Given the description of an element on the screen output the (x, y) to click on. 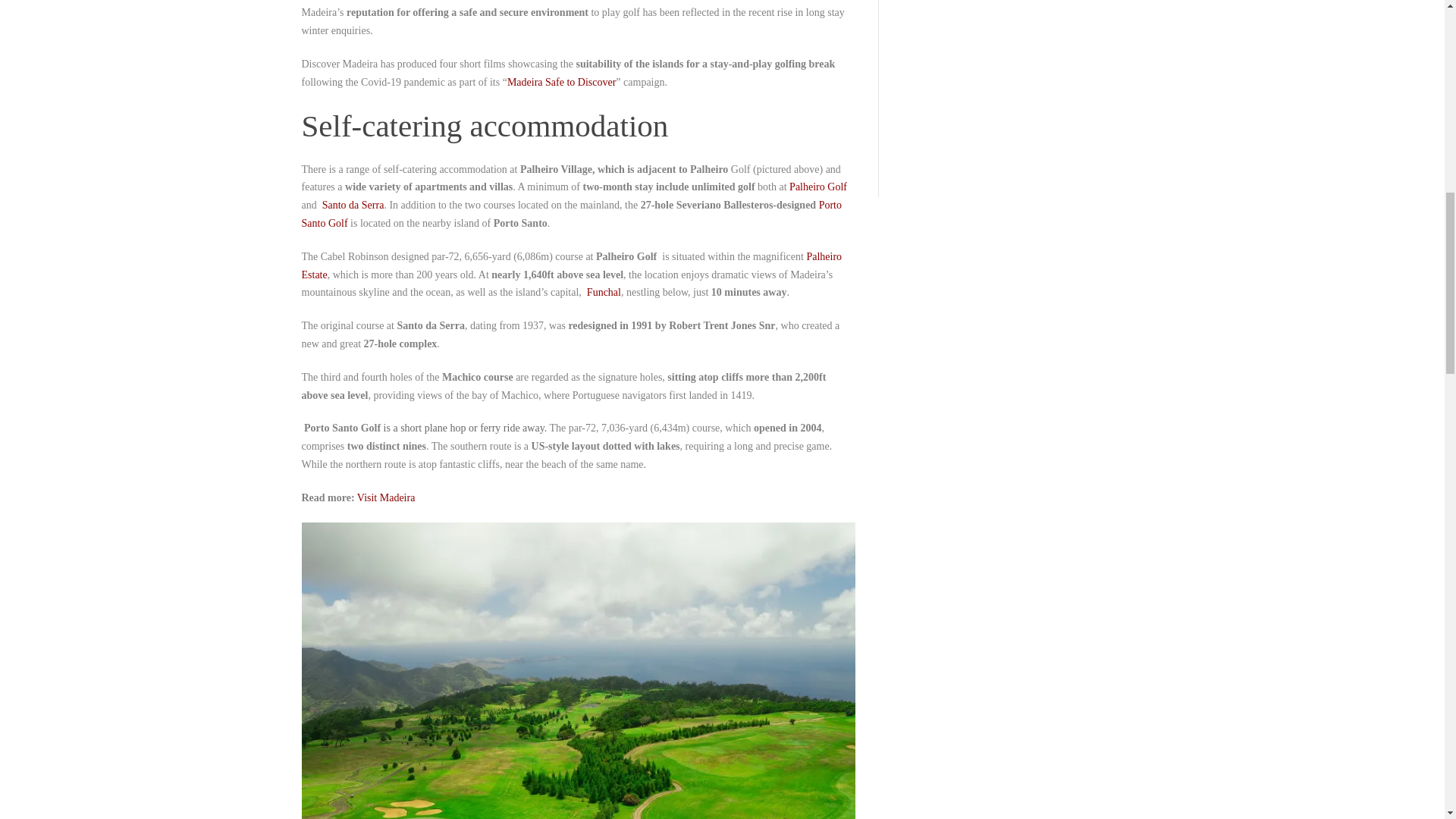
Santo da Serra (352, 204)
is a short plane hop or ferry ride away.  (467, 428)
Palheiro Estate (572, 265)
Palheiro Golf (818, 186)
Madeira Safe to Discover (560, 81)
Funchal (603, 292)
Porto Santo Golf (571, 214)
Visit Madeira (385, 497)
